Given the description of an element on the screen output the (x, y) to click on. 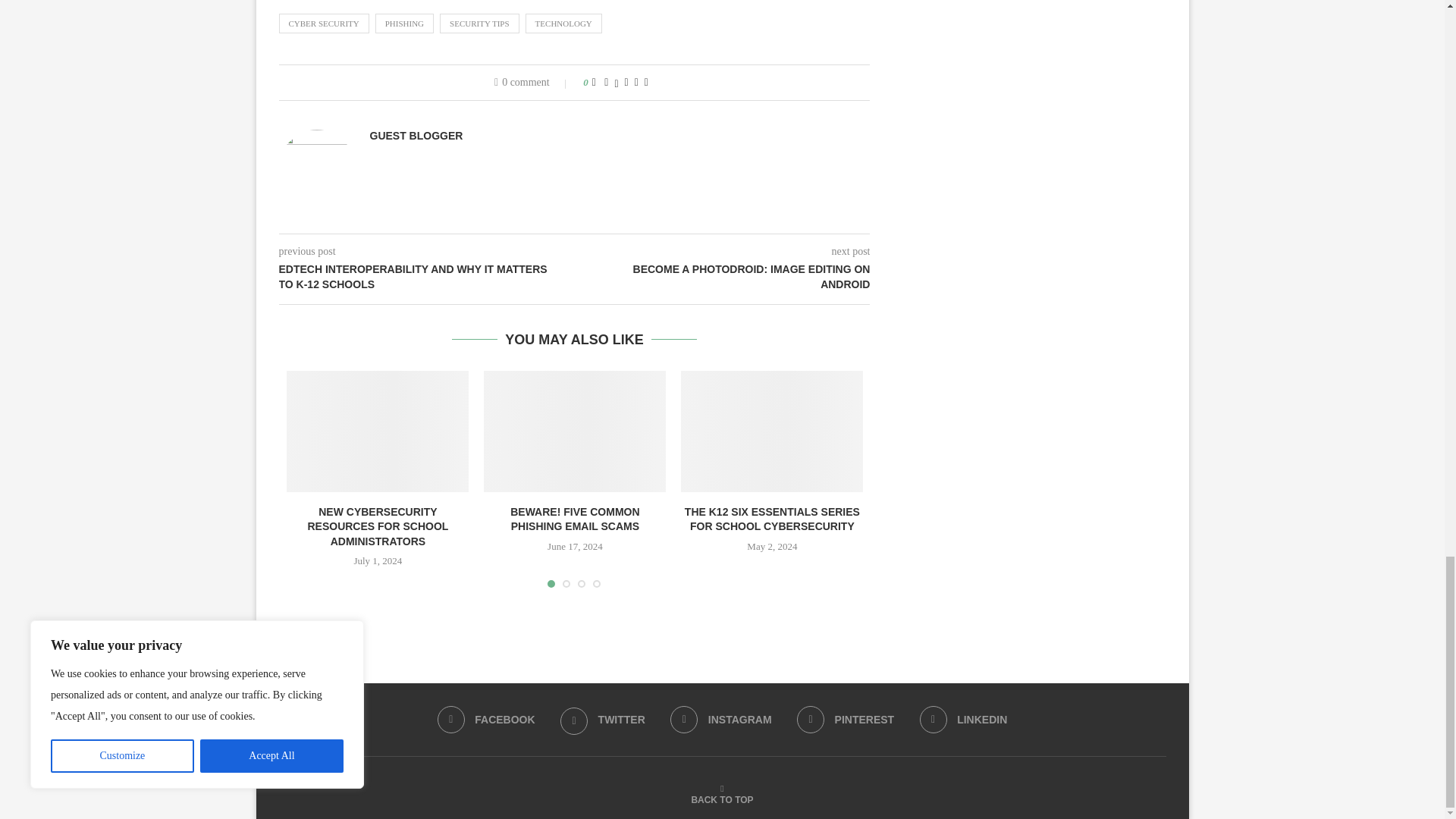
Author Guest Blogger (416, 135)
New Cybersecurity Resources for School Administrators (377, 431)
Beware! Five Common Phishing Email Scams (574, 431)
The K12 SIX Essentials Series for School Cybersecurity (772, 431)
